Given the description of an element on the screen output the (x, y) to click on. 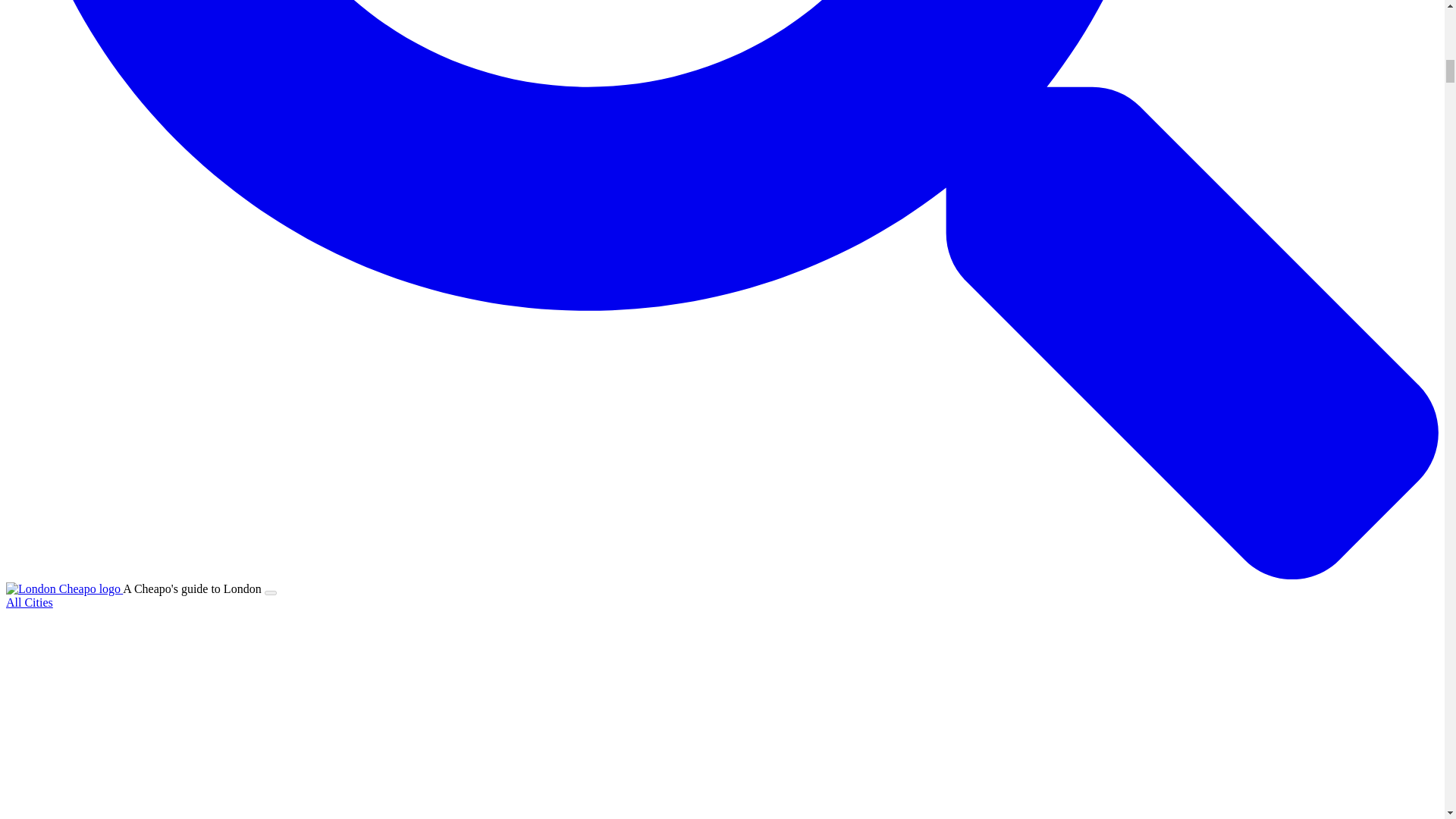
London Cheapo Homepage (63, 588)
London Cheapo (62, 589)
